Given the description of an element on the screen output the (x, y) to click on. 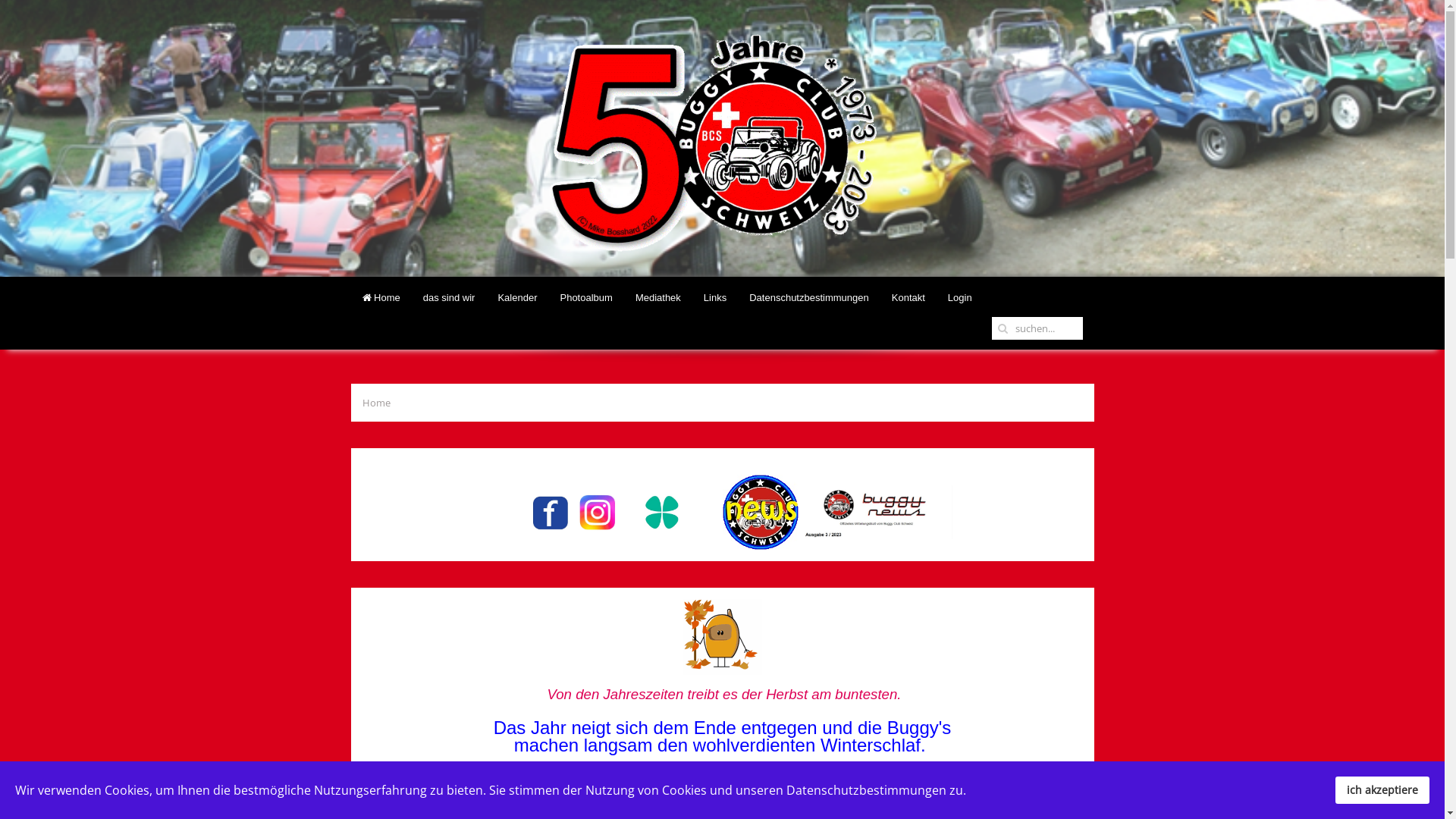
Aktualisiert 25.11.2023 Element type: hover (759, 511)
ich akzeptiere Element type: text (1382, 789)
Mediathek Element type: text (658, 297)
Links Element type: text (714, 297)
Login Element type: text (959, 297)
Kalender Element type: text (517, 297)
Home Element type: text (380, 297)
Clubdesk Element type: hover (661, 512)
Photoalbum Element type: text (585, 297)
das sind wir Element type: text (448, 297)
Kontakt Element type: text (908, 297)
instagram Element type: hover (596, 510)
Datenschutzbestimmungen Element type: text (808, 297)
